Given the description of an element on the screen output the (x, y) to click on. 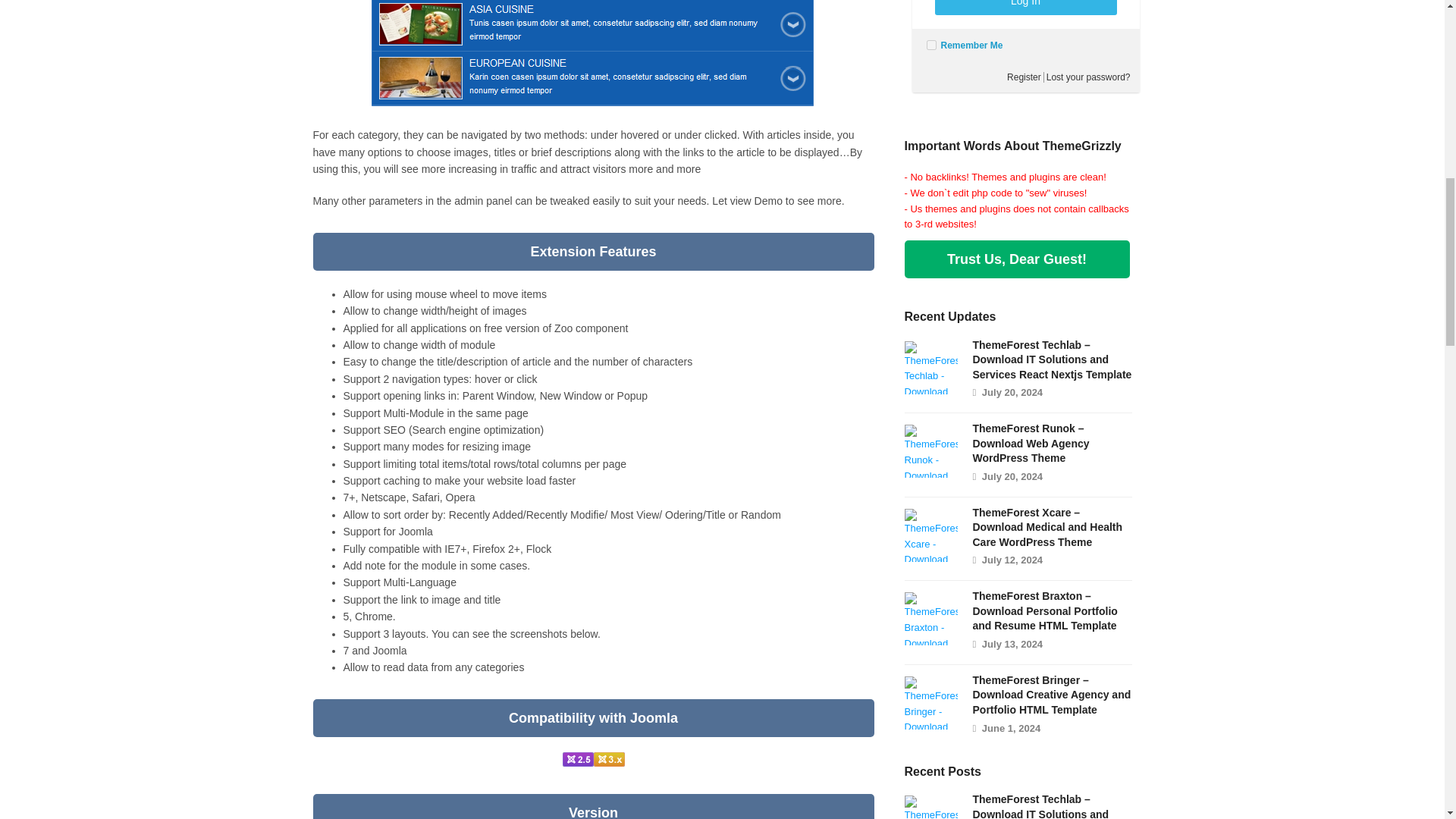
Log In (1025, 7)
forever (931, 44)
